Given the description of an element on the screen output the (x, y) to click on. 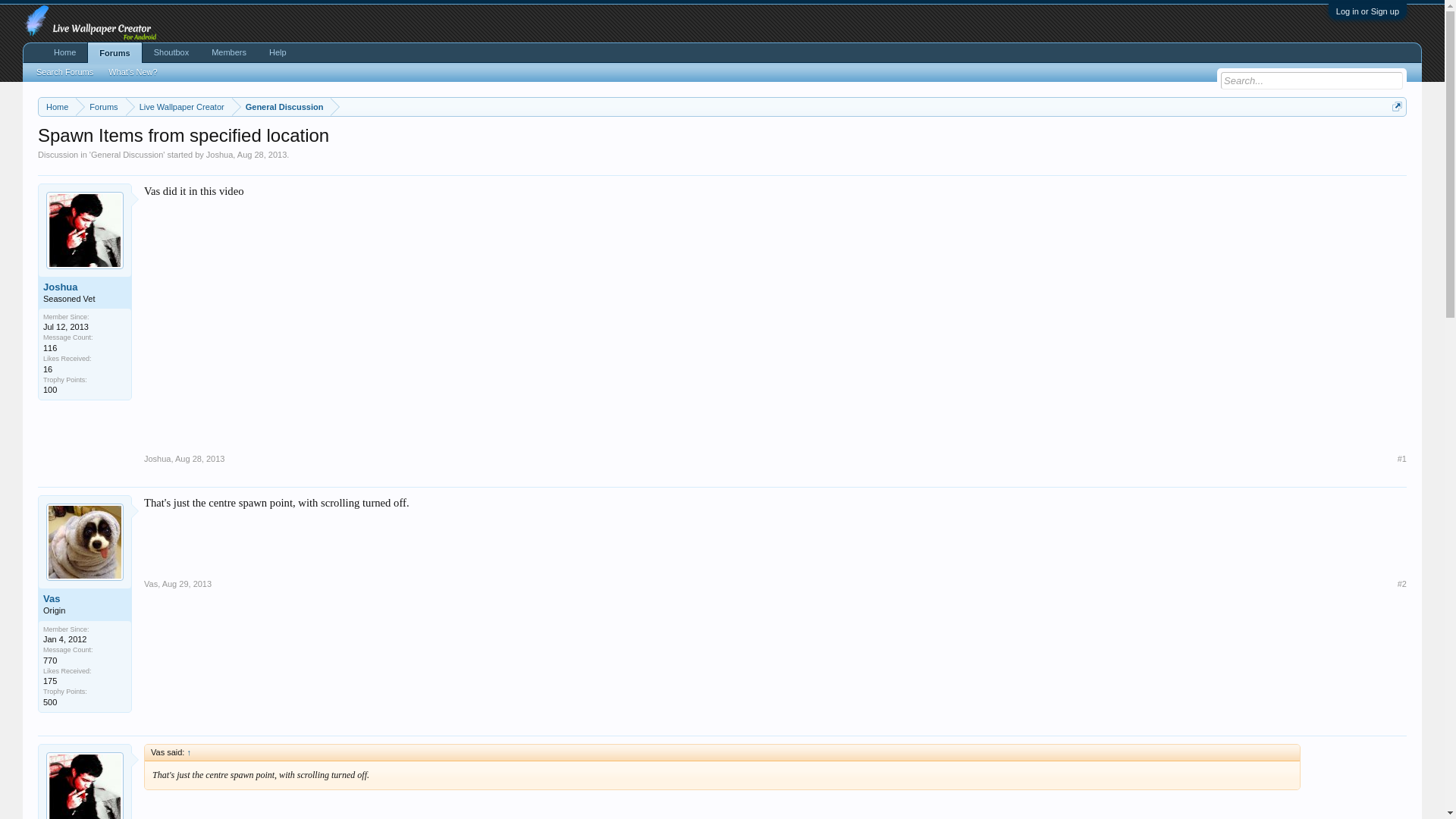
Joshua (219, 153)
Vas (84, 598)
Vas (150, 583)
Live Wallpaper Creator (178, 107)
Aug 28, 2013 (261, 153)
Permalink (199, 458)
General Discussion (126, 153)
Joshua (157, 458)
Open quick navigation (1396, 106)
770 (49, 660)
Aug 29, 2013 (186, 583)
Log in or Sign up (1367, 10)
100 (49, 388)
500 (49, 701)
General Discussion (281, 107)
